Given the description of an element on the screen output the (x, y) to click on. 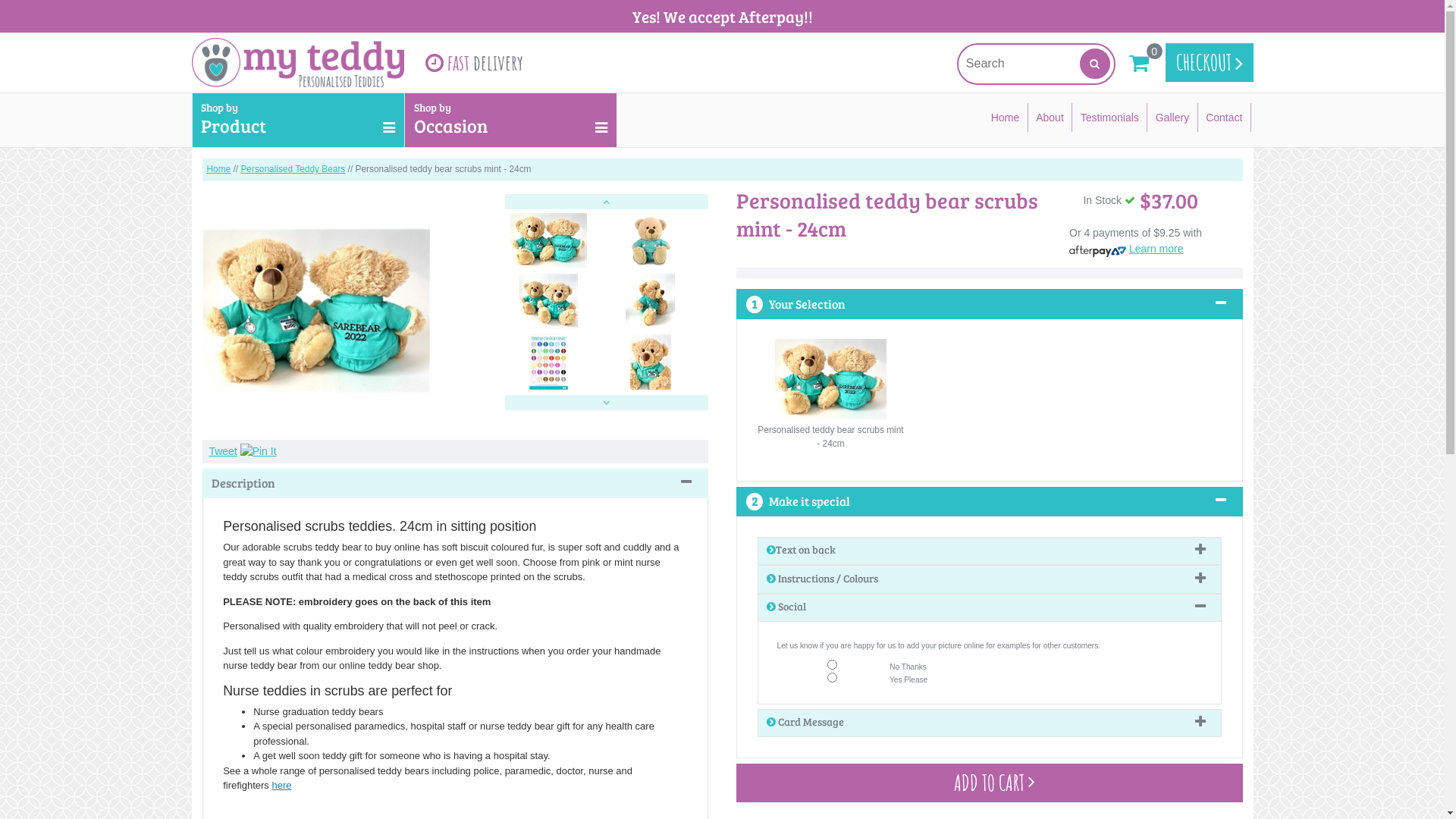
About Element type: text (1050, 117)
Testimonials Element type: text (1109, 117)
Social Element type: text (989, 607)
Card Message Element type: text (989, 723)
Home Element type: text (218, 168)
Tweet Element type: text (222, 451)
My Teddy Element type: hover (297, 62)
Personalised Teddy Bears Element type: text (292, 168)
Contact Element type: text (1224, 117)
Text on back Element type: text (989, 550)
Personalised teddy bear scrubs mint - 24cm Element type: hover (315, 313)
CHECKOUT Element type: text (1208, 62)
Instructions / Colours Element type: text (989, 578)
Description Element type: text (454, 483)
Add to Cart Element type: text (989, 782)
Pin It Element type: hover (258, 451)
2 Make it special Element type: text (989, 501)
Home Element type: text (1004, 117)
here Element type: text (281, 784)
Gallery Element type: text (1172, 117)
Shop by
Product Element type: text (297, 120)
Learn more Element type: text (1156, 248)
1 Your Selection Element type: text (989, 303)
Shop by
Occasion Element type: text (510, 120)
